Given the description of an element on the screen output the (x, y) to click on. 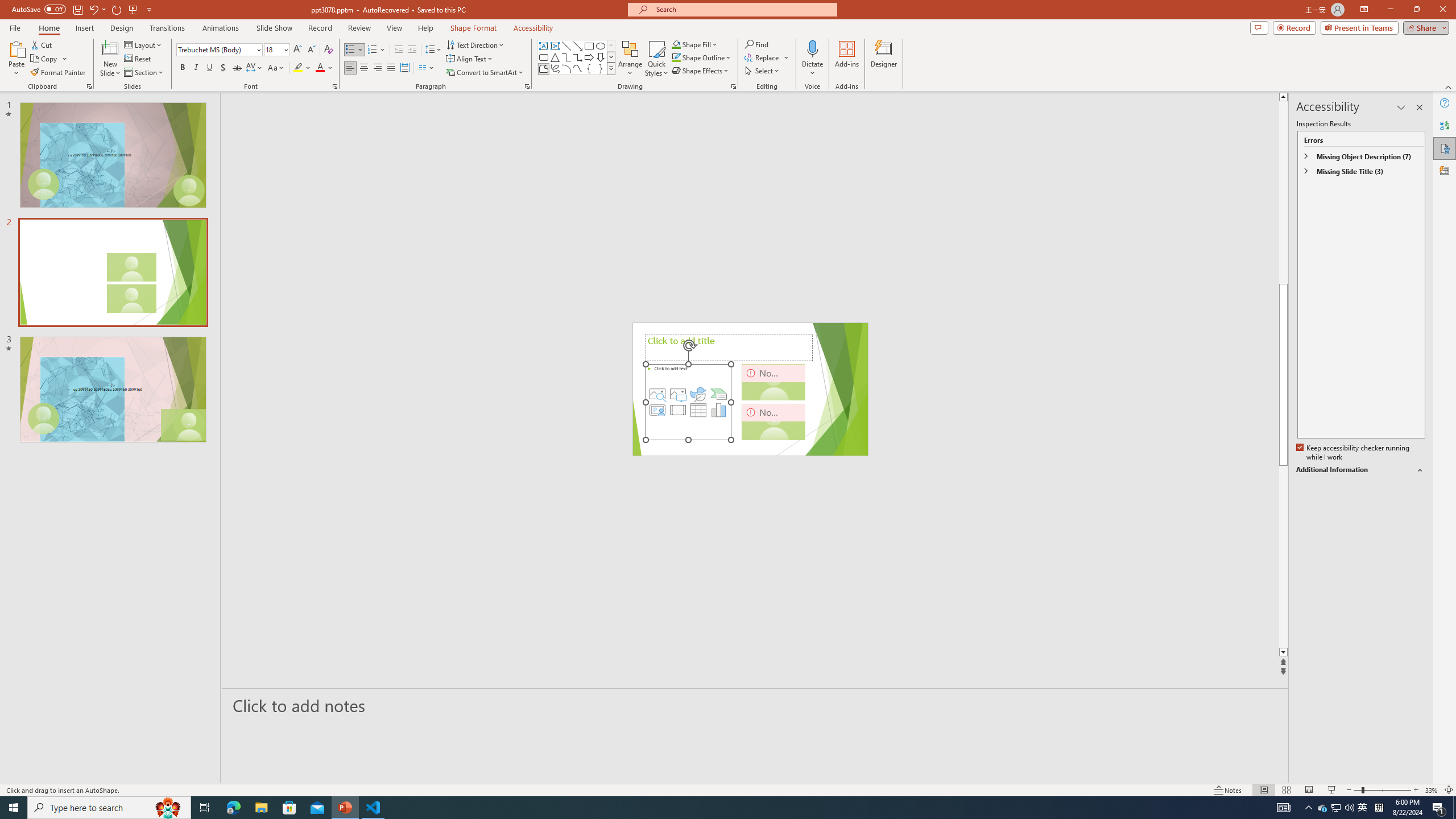
Insert Chart (719, 409)
Stock Images (656, 394)
